Given the description of an element on the screen output the (x, y) to click on. 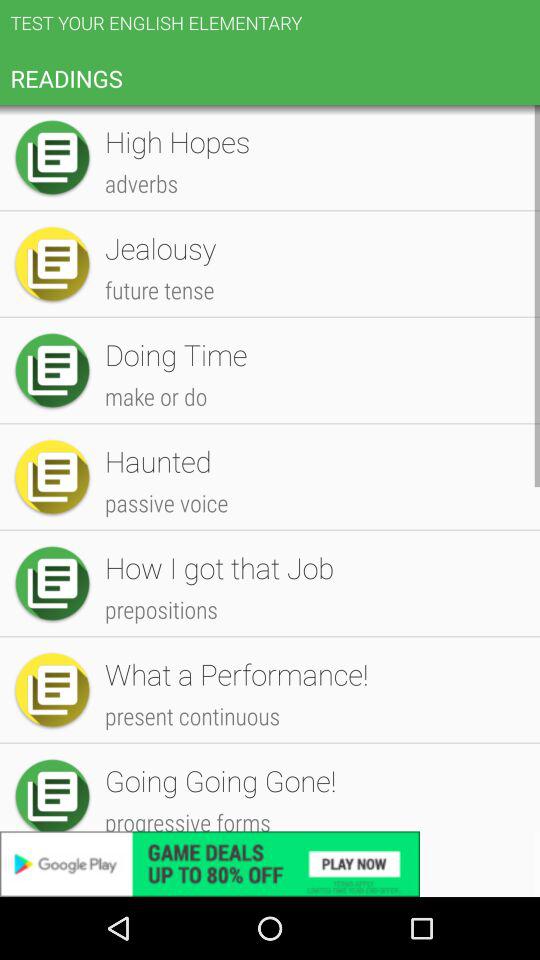
turn off the multiplayer app (311, 384)
